Given the description of an element on the screen output the (x, y) to click on. 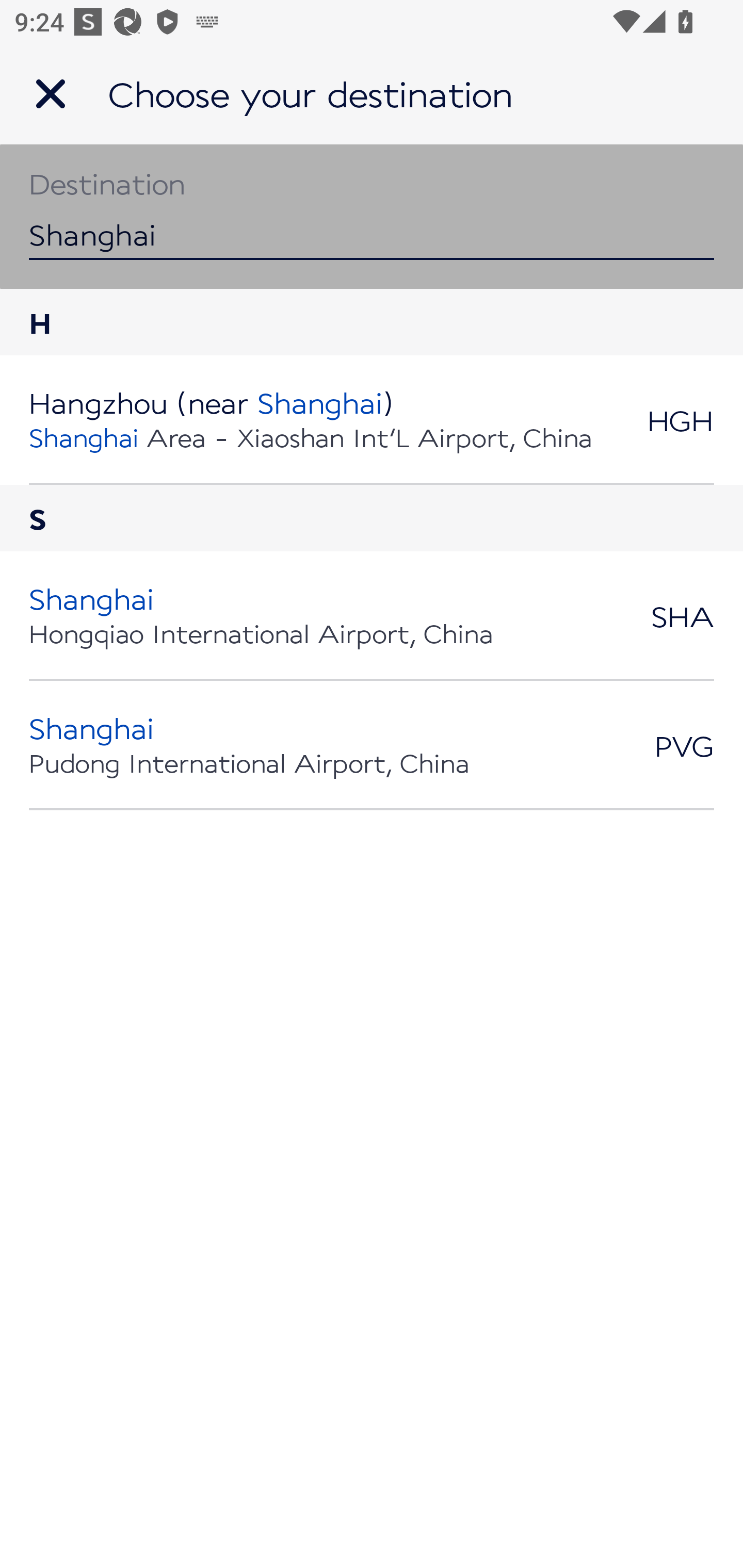
Navigate up (50, 93)
Shanghai (371, 216)
Shanghai Hongqiao International Airport, China SHA (371, 615)
Shanghai Pudong International Airport, China PVG (371, 745)
